Given the description of an element on the screen output the (x, y) to click on. 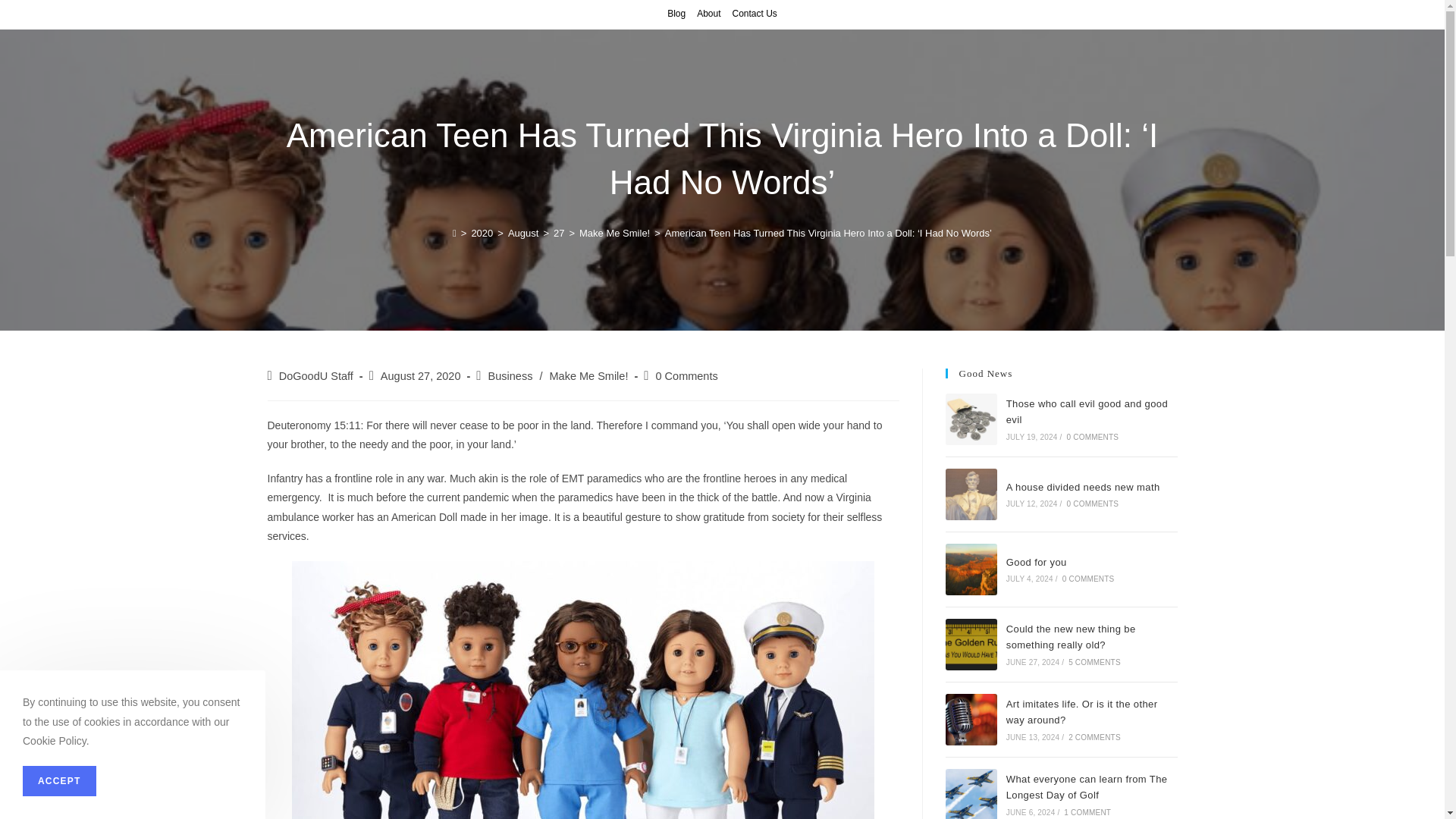
Good for you (969, 569)
About (708, 13)
DoGoodU Staff (316, 376)
Those who call evil good and good evil (1086, 411)
0 COMMENTS (1093, 437)
Blog (675, 13)
Posts by DoGoodU Staff (316, 376)
27 (558, 233)
Contact Us (754, 13)
2020 (481, 233)
Business (509, 376)
Make Me Smile! (587, 376)
Art imitates life. Or is it the other way around? (969, 719)
What everyone can learn from The Longest Day of Golf (969, 794)
A house divided needs new math (1083, 487)
